Given the description of an element on the screen output the (x, y) to click on. 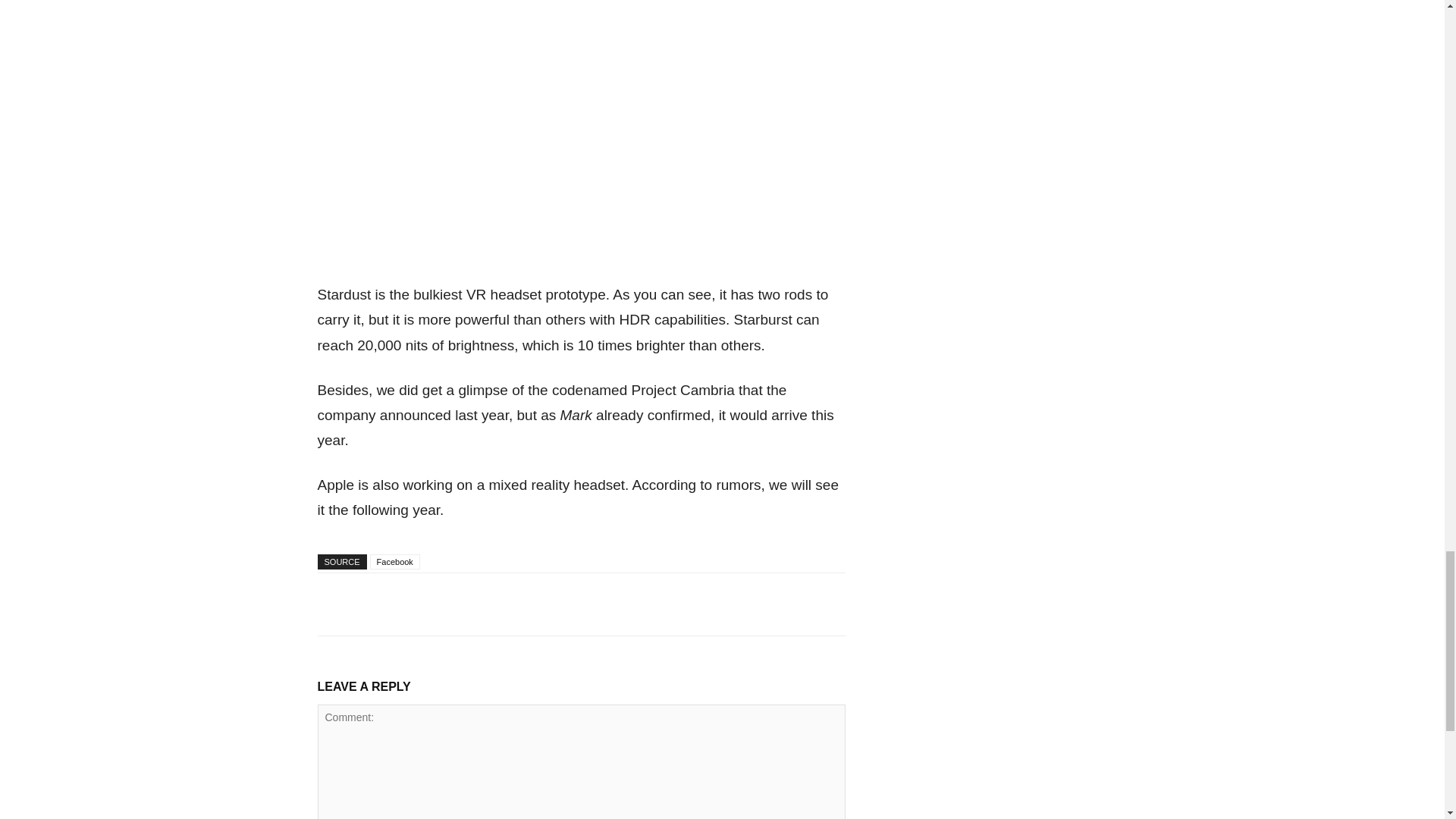
Facebook (394, 561)
